Given the description of an element on the screen output the (x, y) to click on. 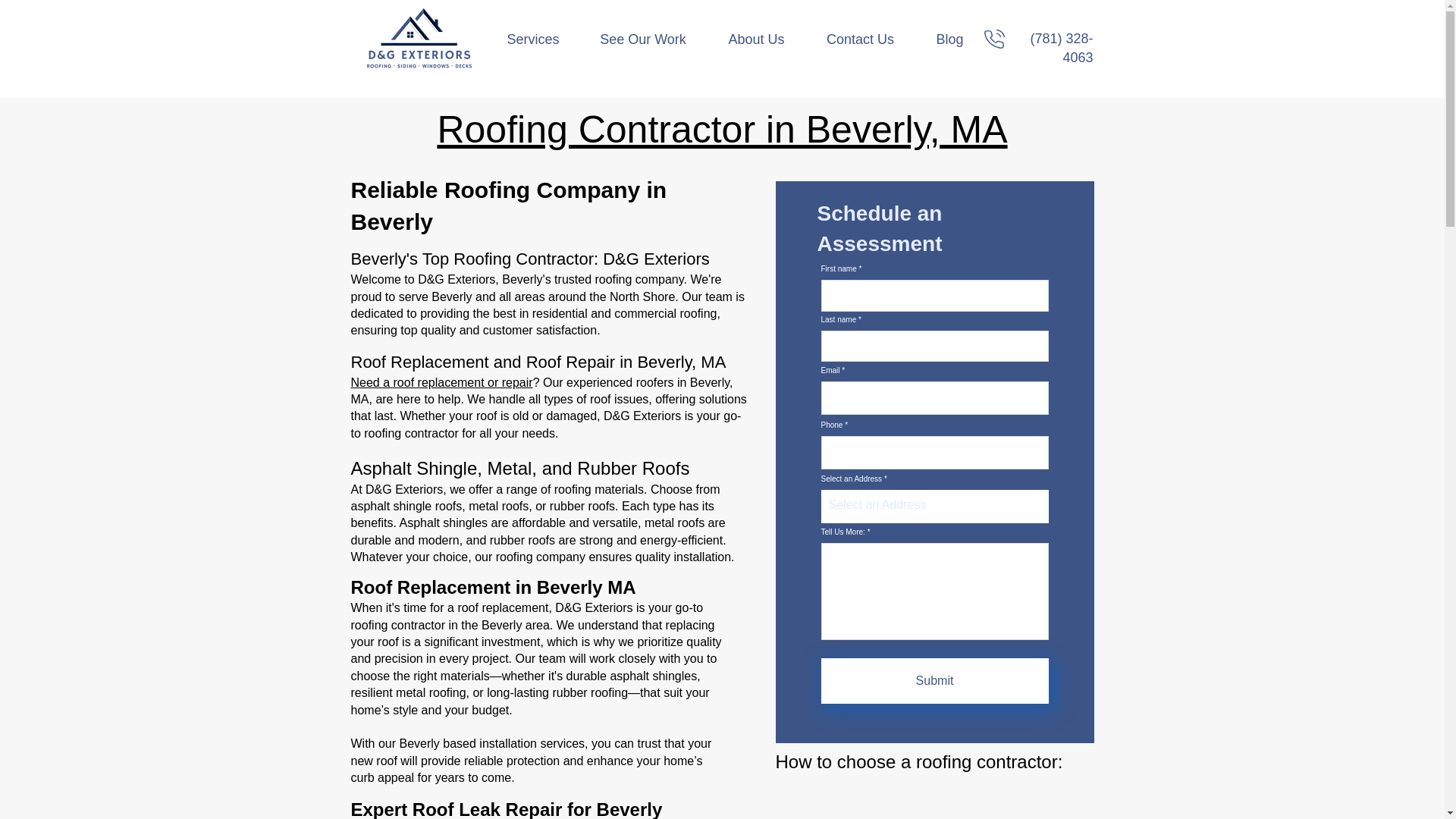
See Our Work (643, 39)
Need a roof replacement or repair (441, 382)
About Us (755, 39)
Contact Us (859, 39)
Submit (934, 680)
